Given the description of an element on the screen output the (x, y) to click on. 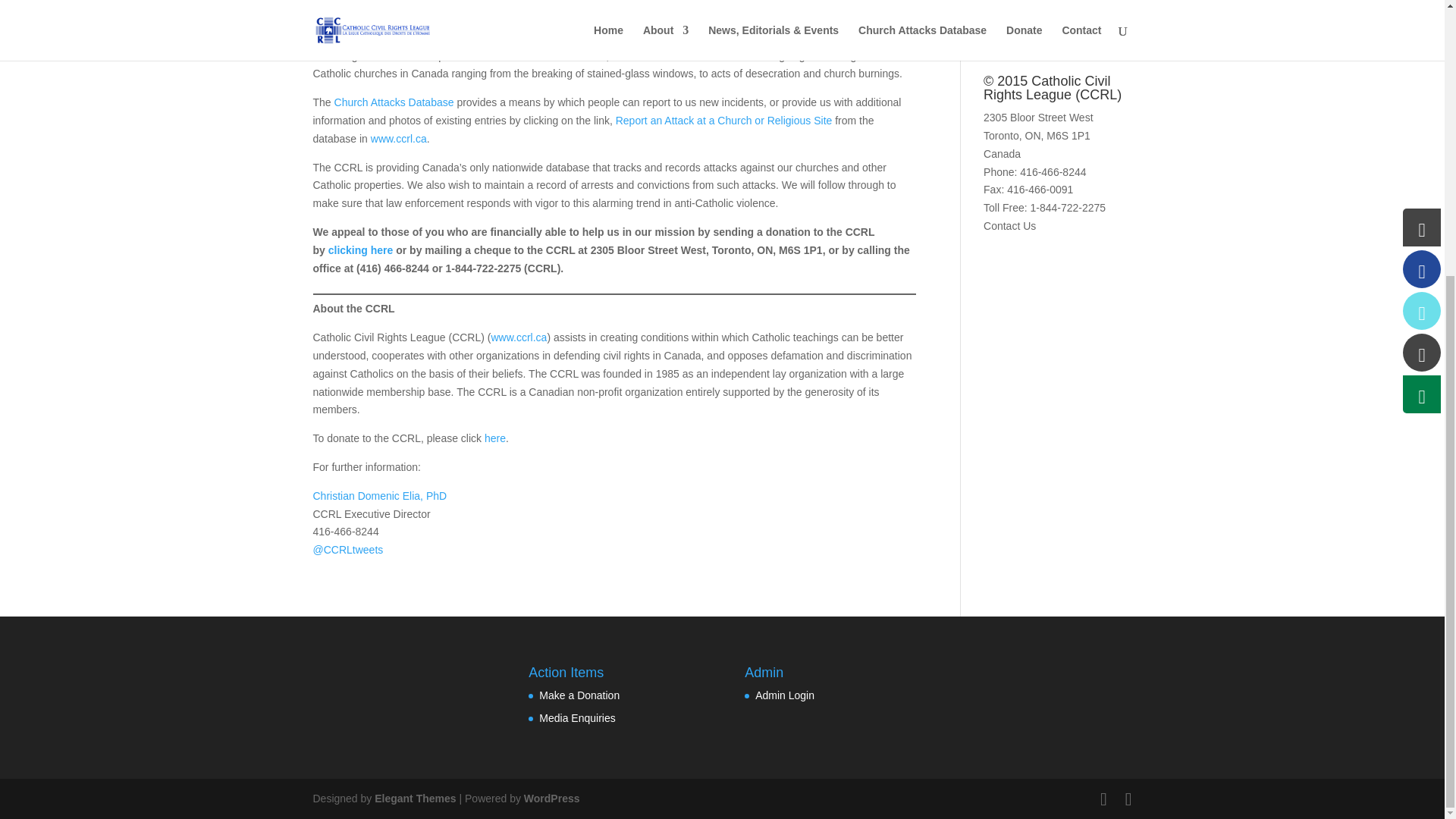
Church Attacks Database (394, 102)
Prayer (999, 19)
Premium WordPress Themes (414, 798)
Church Attacks Database (545, 55)
Contact Us (1009, 225)
The Executive (379, 495)
www.ccrl.ca (716, 55)
Media Enquiries (576, 717)
clicking here (361, 250)
Christian Domenic Elia, PhD (379, 495)
